Given the description of an element on the screen output the (x, y) to click on. 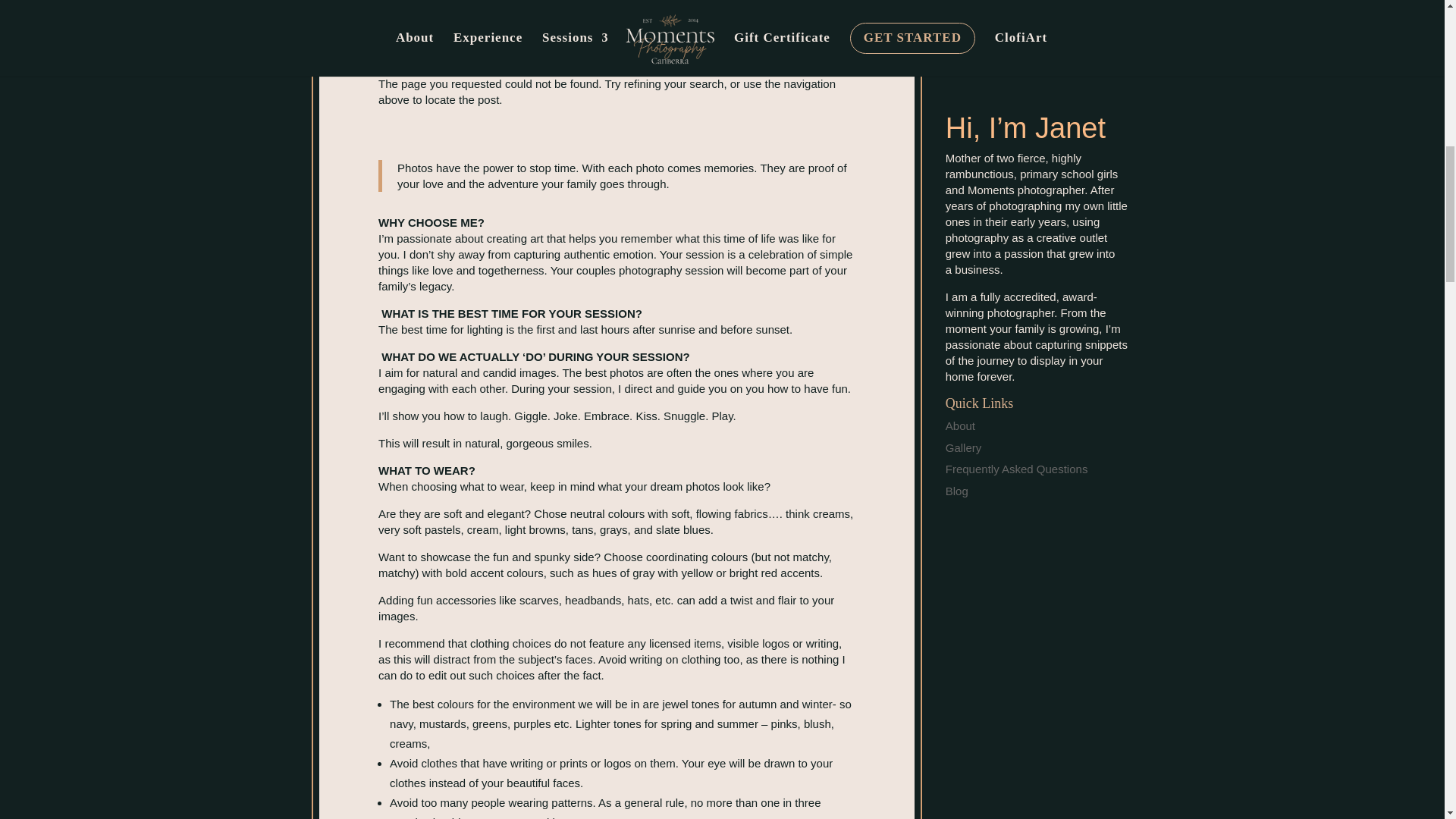
Blog (956, 490)
About (959, 425)
Follow on Instagram (1038, 52)
Gallery (962, 447)
Follow on TikTok (1077, 52)
Frequently Asked Questions (1015, 468)
Follow on Facebook (999, 52)
